Given the description of an element on the screen output the (x, y) to click on. 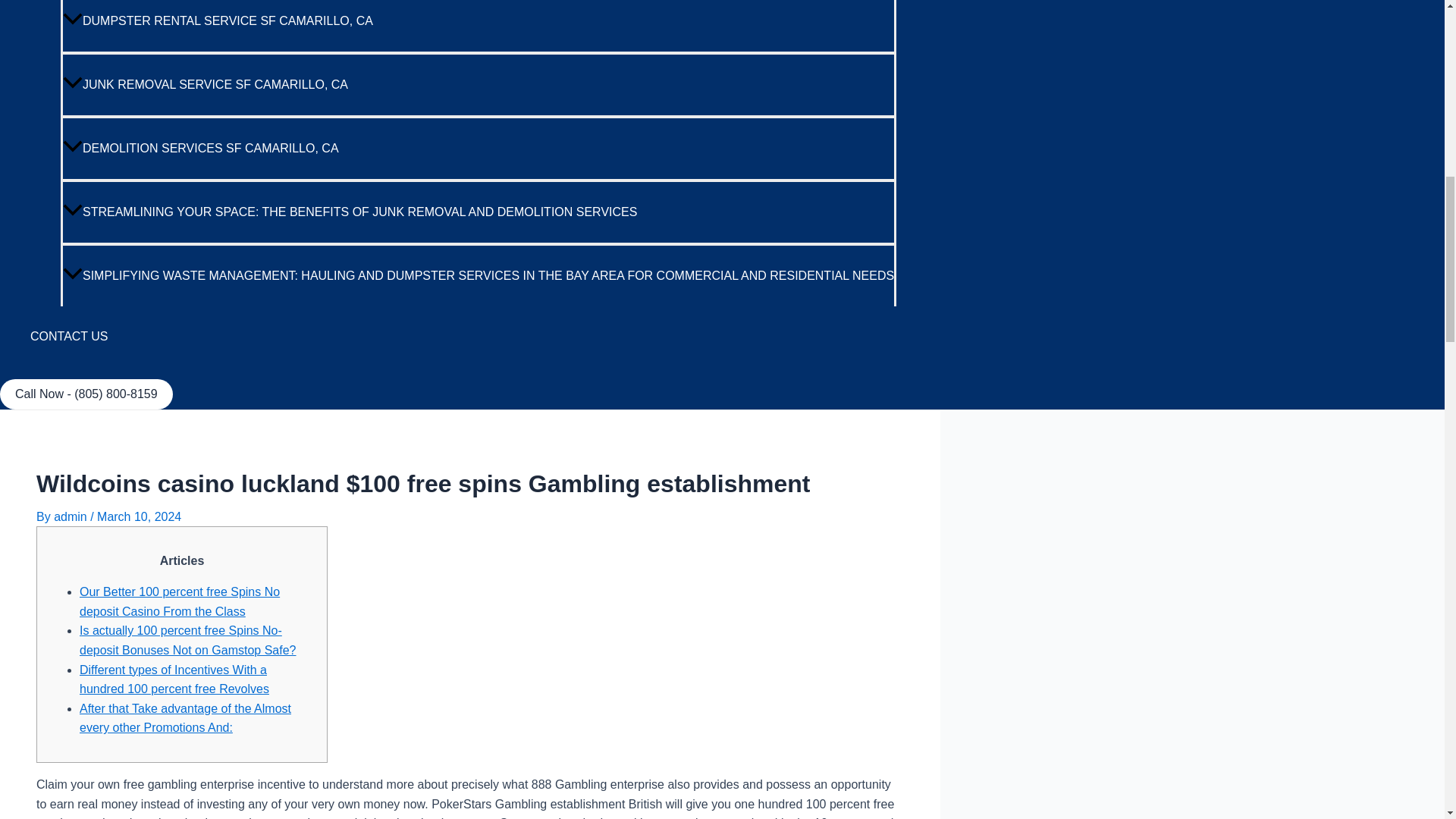
DEMOLITION SERVICES SF CAMARILLO, CA (478, 147)
JUNK REMOVAL SERVICE SF CAMARILLO, CA (478, 84)
DUMPSTER RENTAL SERVICE SF CAMARILLO, CA (478, 26)
View all posts by admin (71, 516)
CONTACT US (463, 336)
